Given the description of an element on the screen output the (x, y) to click on. 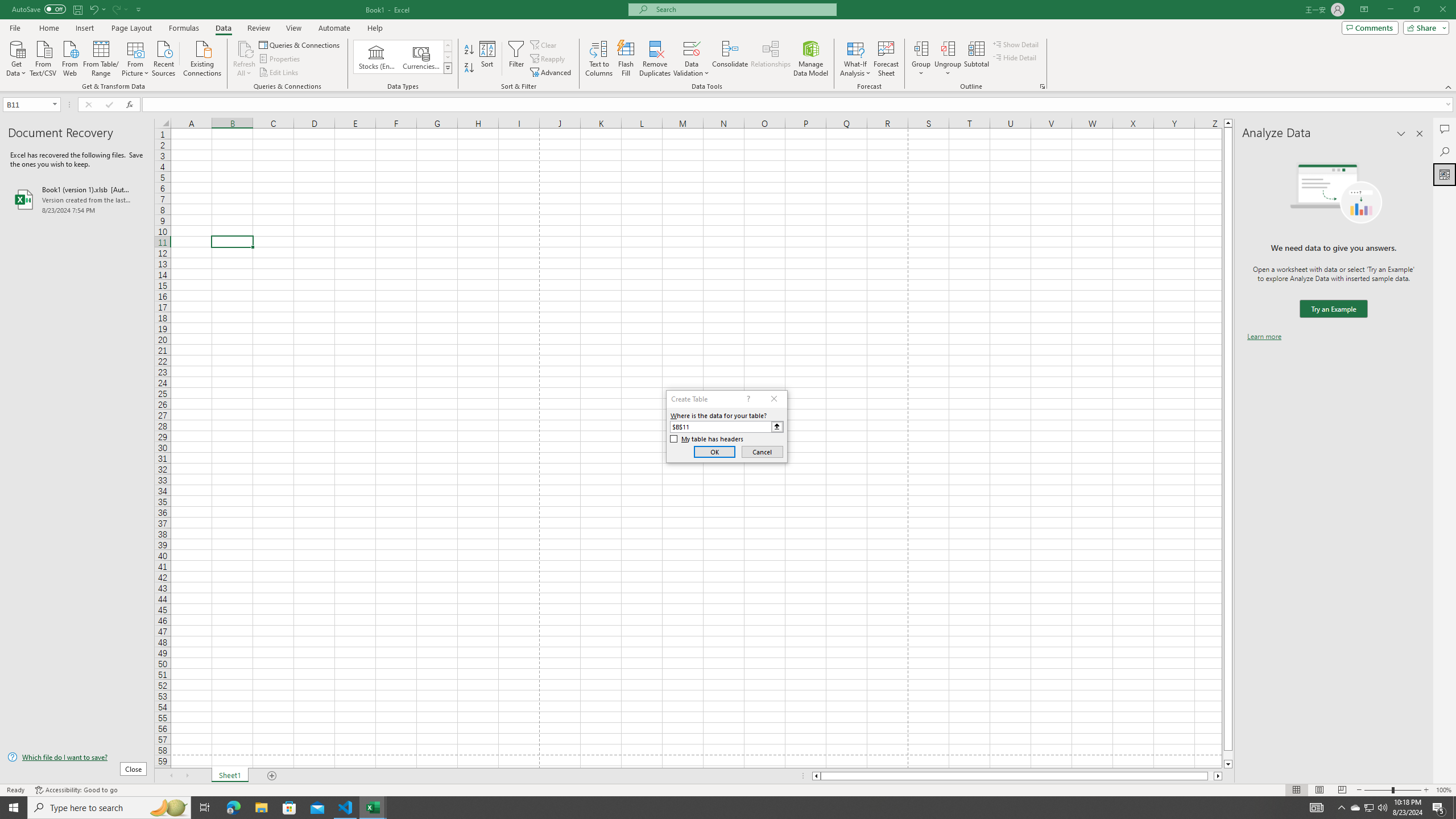
Open (54, 104)
Edit Links (279, 72)
Which file do I want to save? (77, 757)
Ribbon Display Options (1364, 9)
Task Pane Options (1400, 133)
Search (1444, 151)
Flash Fill (625, 58)
Share (1423, 27)
Accessibility Checker Accessibility: Good to go (76, 790)
Book1 (version 1).xlsb  [AutoRecovered] (77, 199)
From Text/CSV (43, 57)
Text to Columns... (598, 58)
